Given the description of an element on the screen output the (x, y) to click on. 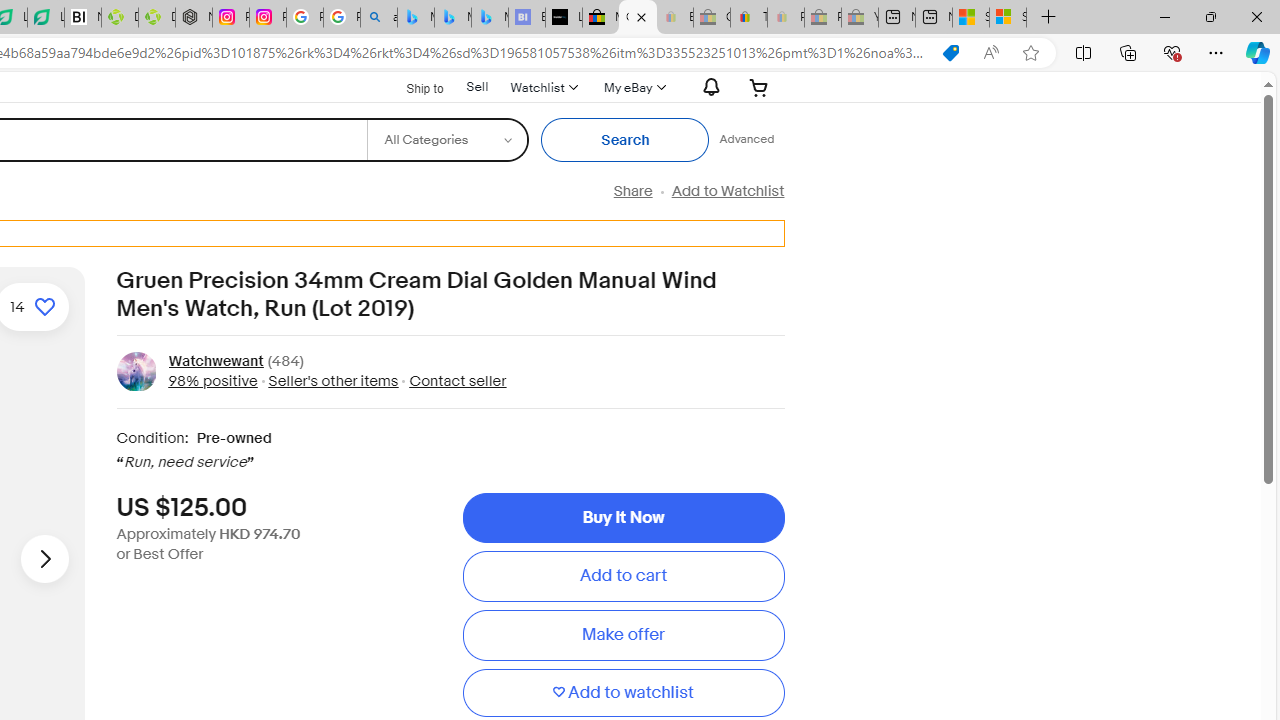
Buy It Now (623, 517)
(484) (285, 361)
Add to cart (623, 576)
Buy It Now (623, 517)
Seller's other items (333, 380)
  Contact seller (452, 380)
Shanghai, China hourly forecast | Microsoft Weather (971, 17)
Class: ux-action (136, 371)
Watchlist (543, 87)
Add to cart (623, 576)
